Given the description of an element on the screen output the (x, y) to click on. 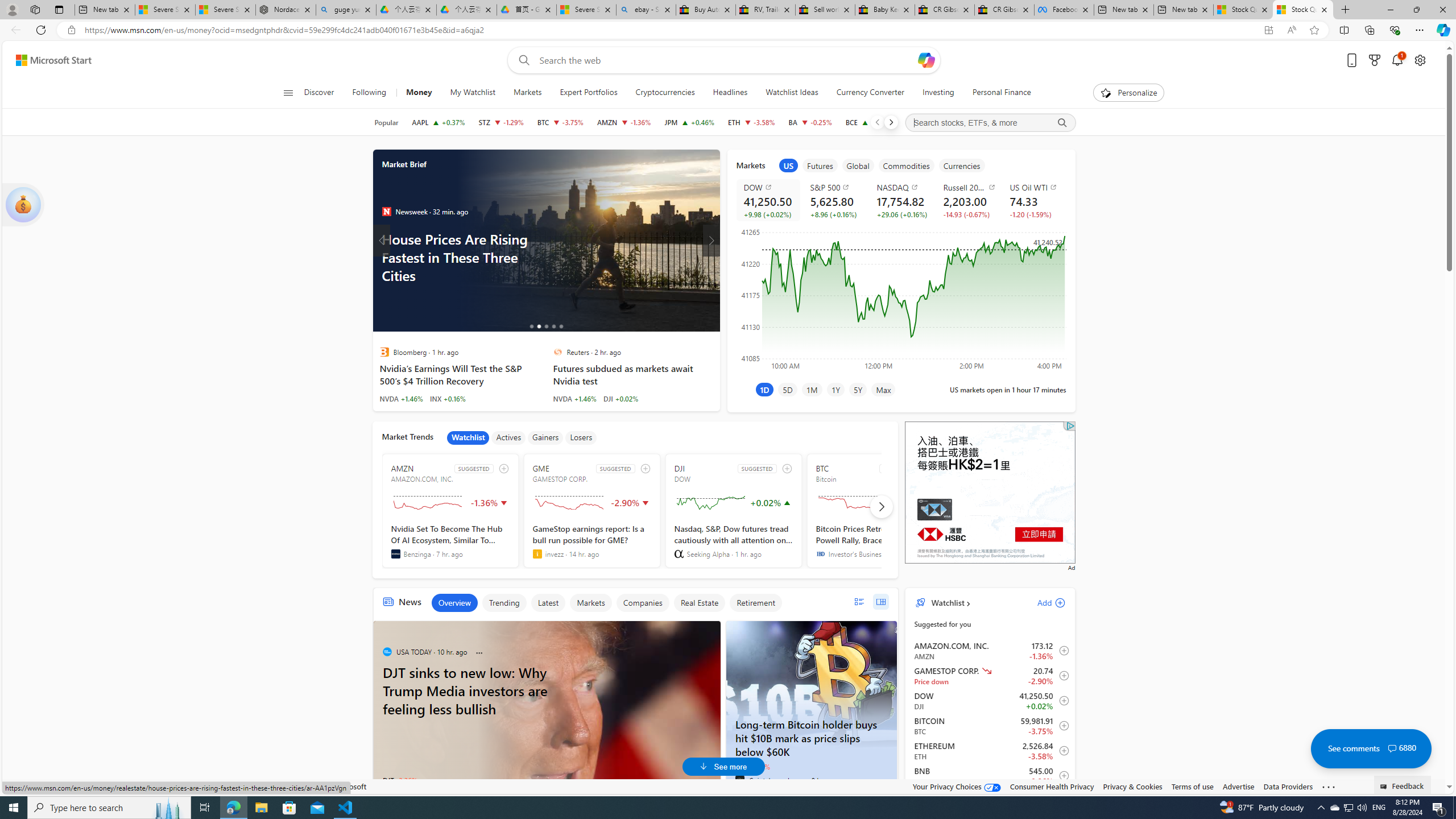
Open navigation menu (287, 92)
BTC SUGGESTED Bitcoin (874, 510)
Trending (504, 602)
1M (811, 389)
Watchlist Ideas (791, 92)
JPM JPMORGAN CHASE & CO. increase 220.18 +1.01 +0.46% (689, 122)
Add (1041, 602)
GME SUGGESTED GAMESTOP CORP. (591, 510)
GameStop earnings report: Is a bull run possible for GME? (591, 540)
Search stocks, ETFs, & more (989, 122)
Terms of use (1192, 785)
